Given the description of an element on the screen output the (x, y) to click on. 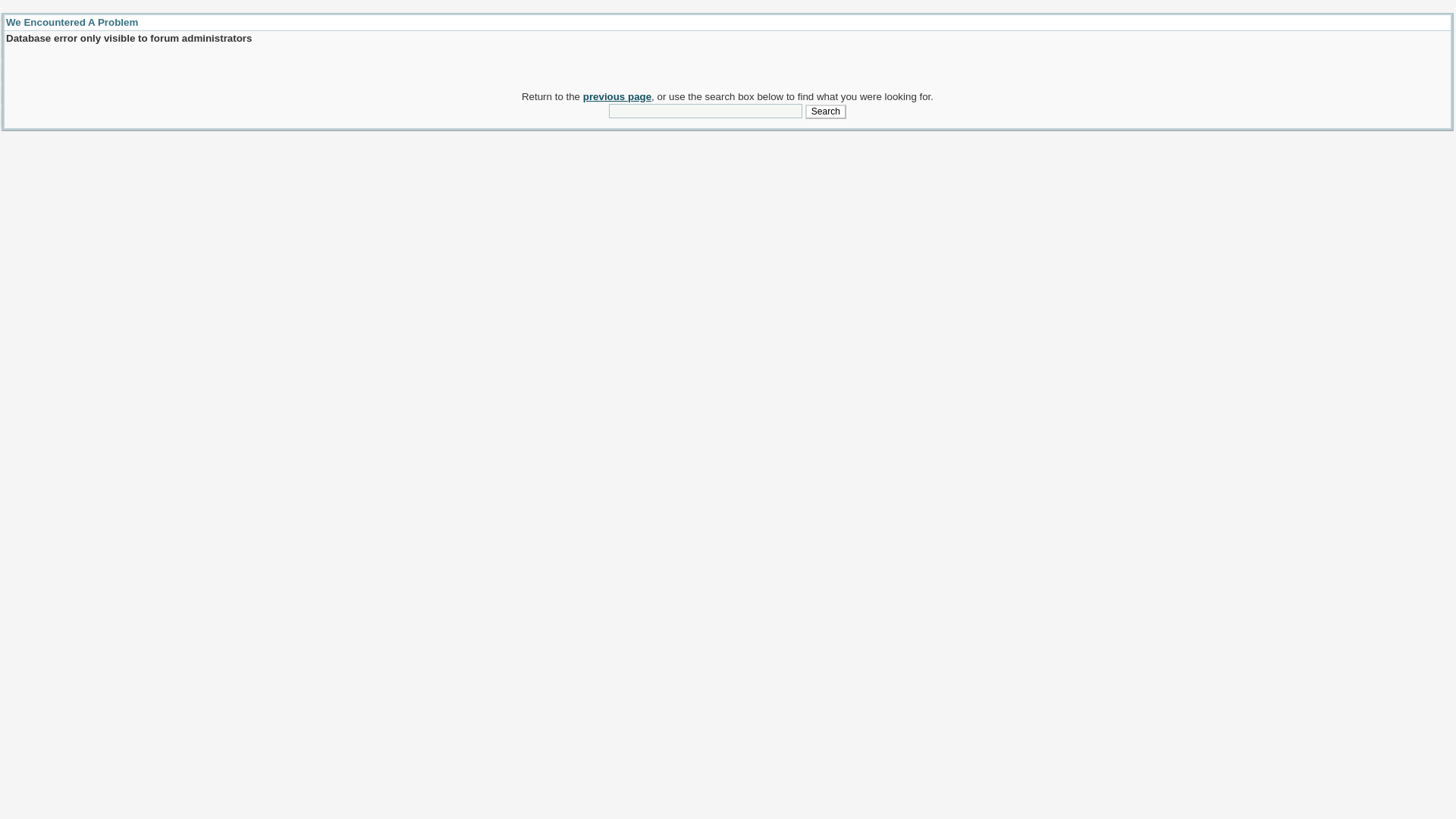
Search (825, 111)
previous page (616, 96)
Search (825, 111)
